Given the description of an element on the screen output the (x, y) to click on. 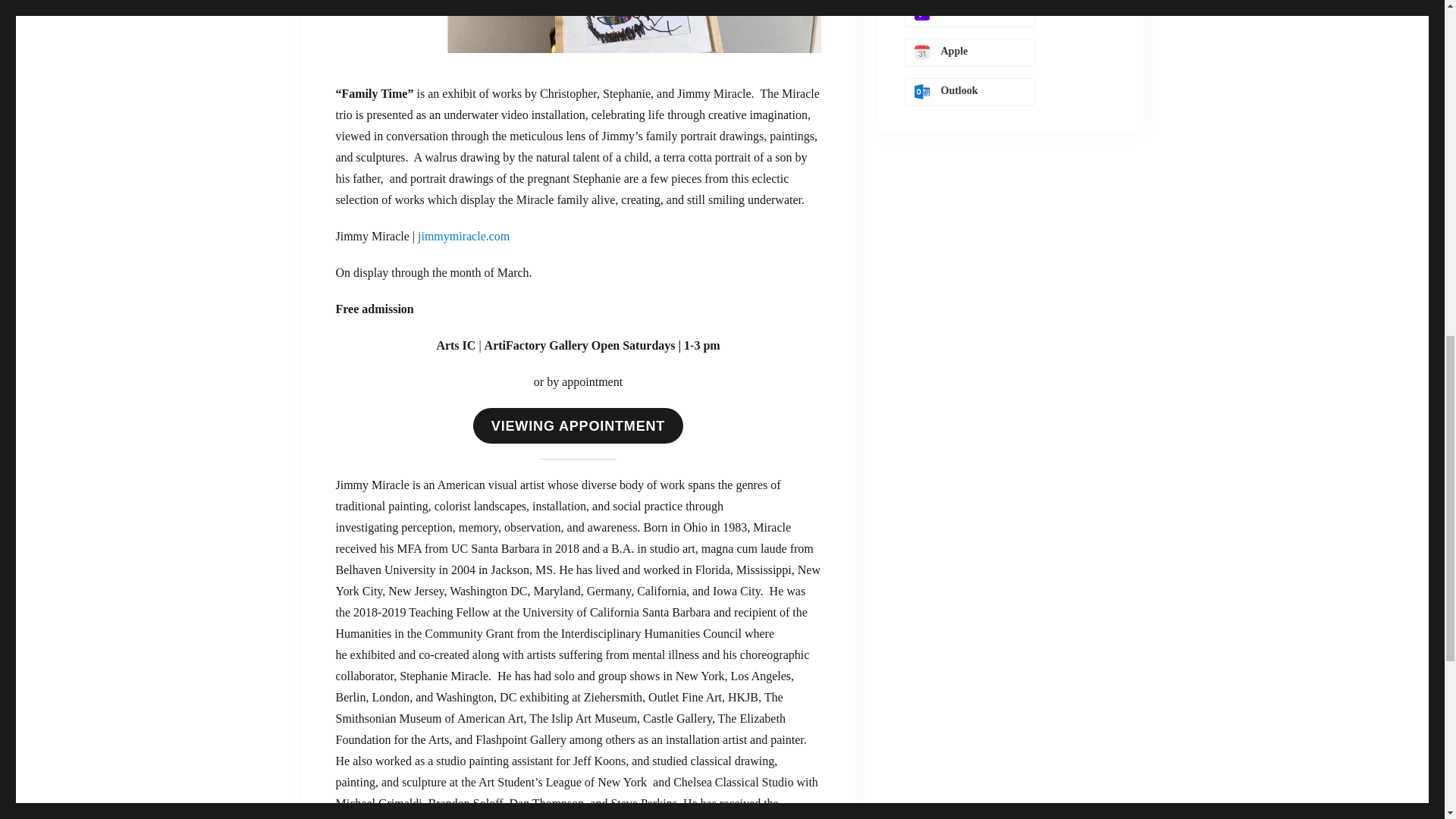
VIEWING APPOINTMENT (577, 425)
Yahoo (968, 13)
Outlook (968, 91)
jimmymiracle.com (463, 236)
Apple (968, 52)
